Given the description of an element on the screen output the (x, y) to click on. 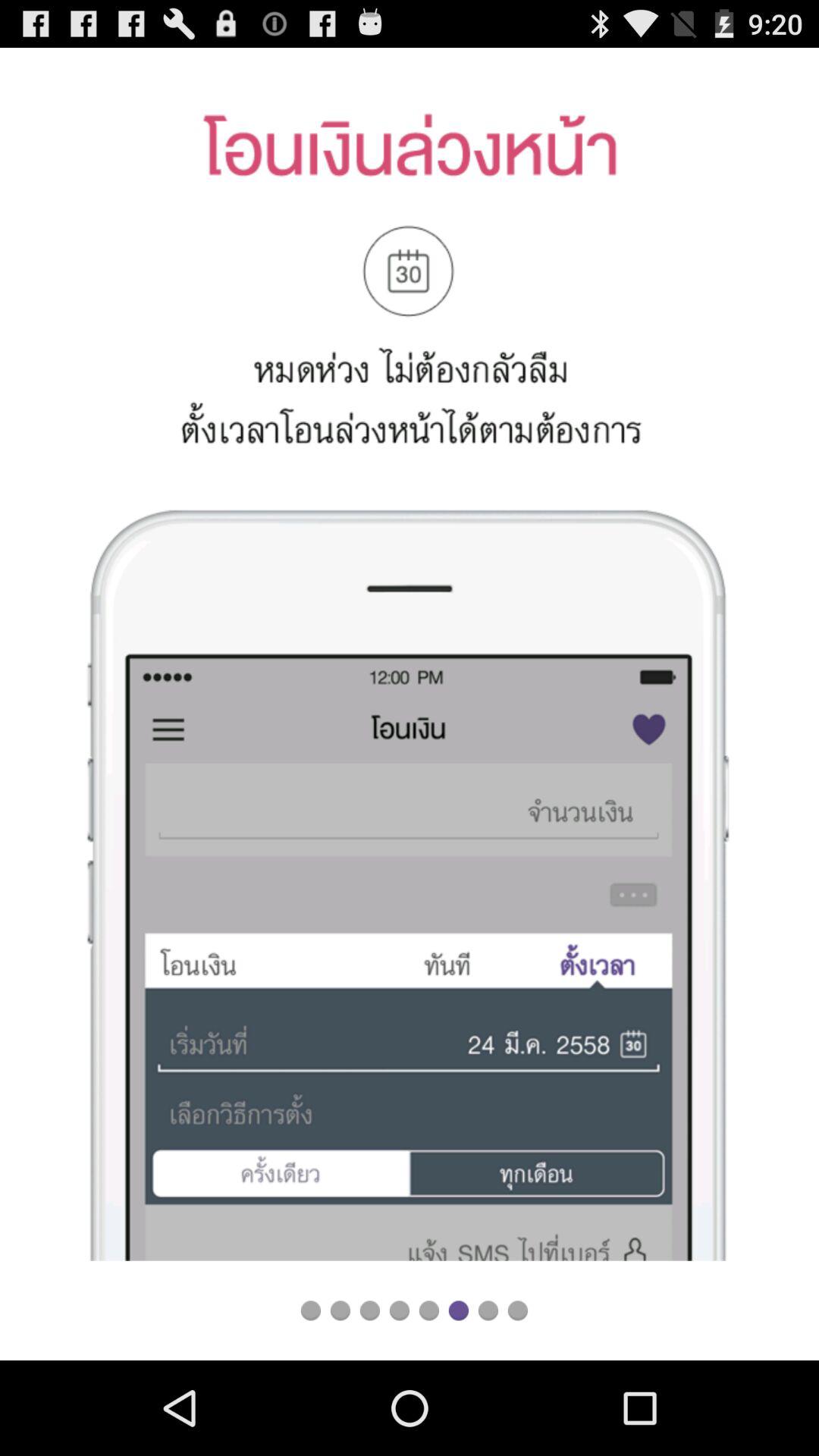
loading the file (310, 1310)
